Given the description of an element on the screen output the (x, y) to click on. 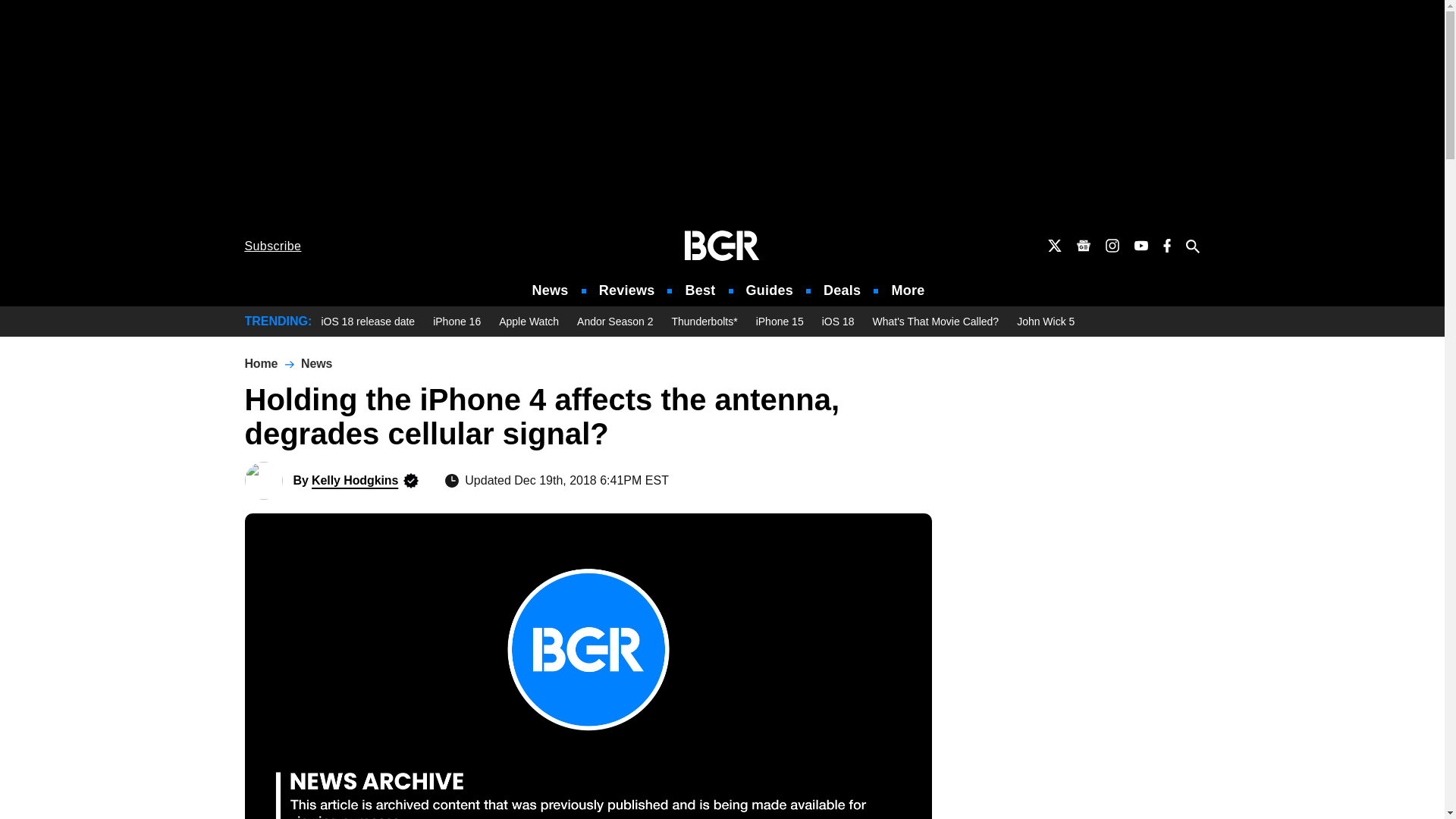
Subscribe (272, 245)
Best (699, 290)
Deals (842, 290)
Posts by Kelly Hodgkins (354, 480)
Reviews (626, 290)
News (550, 290)
Guides (769, 290)
More (907, 290)
